Given the description of an element on the screen output the (x, y) to click on. 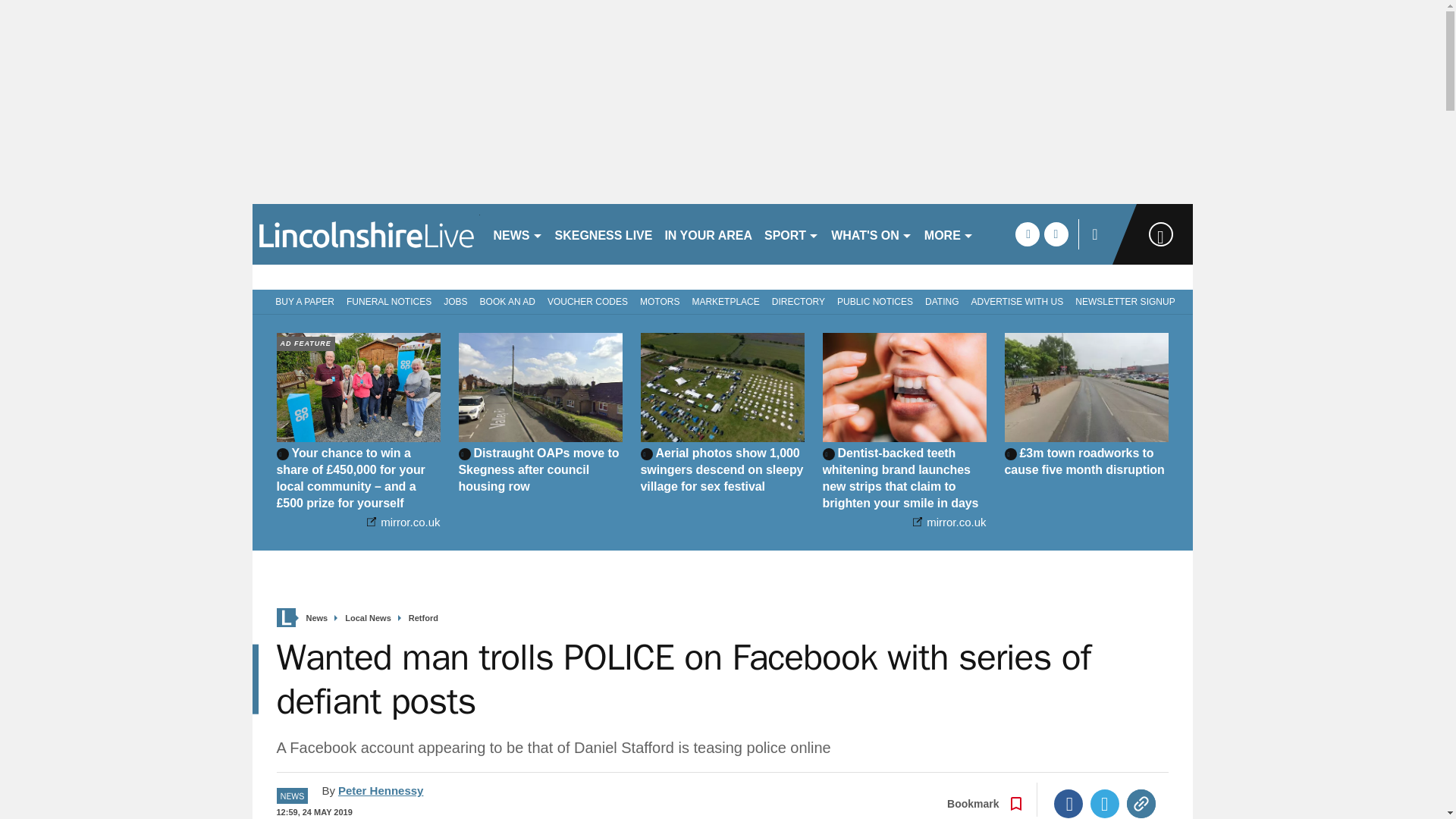
facebook (1026, 233)
lincolnshirelive (365, 233)
SPORT (791, 233)
BUY A PAPER (301, 300)
NEWS (517, 233)
Twitter (1104, 803)
MORE (948, 233)
IN YOUR AREA (708, 233)
WHAT'S ON (871, 233)
twitter (1055, 233)
SKEGNESS LIVE (603, 233)
Facebook (1068, 803)
